Given the description of an element on the screen output the (x, y) to click on. 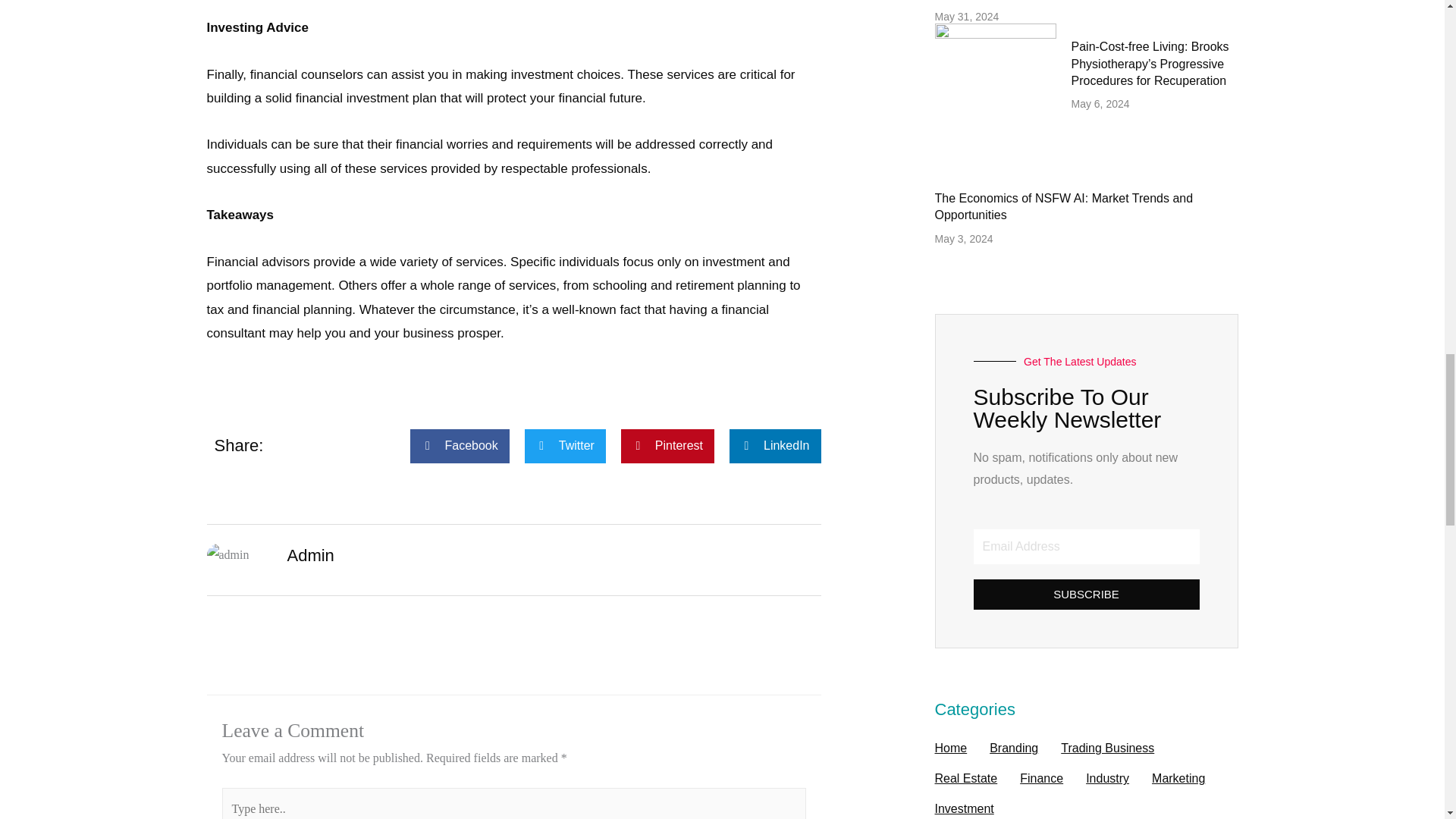
The Economics of NSFW AI: Market Trends and Opportunities (1063, 206)
Industry (1107, 778)
Finance (1041, 778)
Investment (963, 806)
Marketing (1178, 778)
Real Estate (965, 778)
SUBSCRIBE (1086, 594)
Trading Business (1107, 748)
Branding (1014, 748)
Home (950, 748)
